Given the description of an element on the screen output the (x, y) to click on. 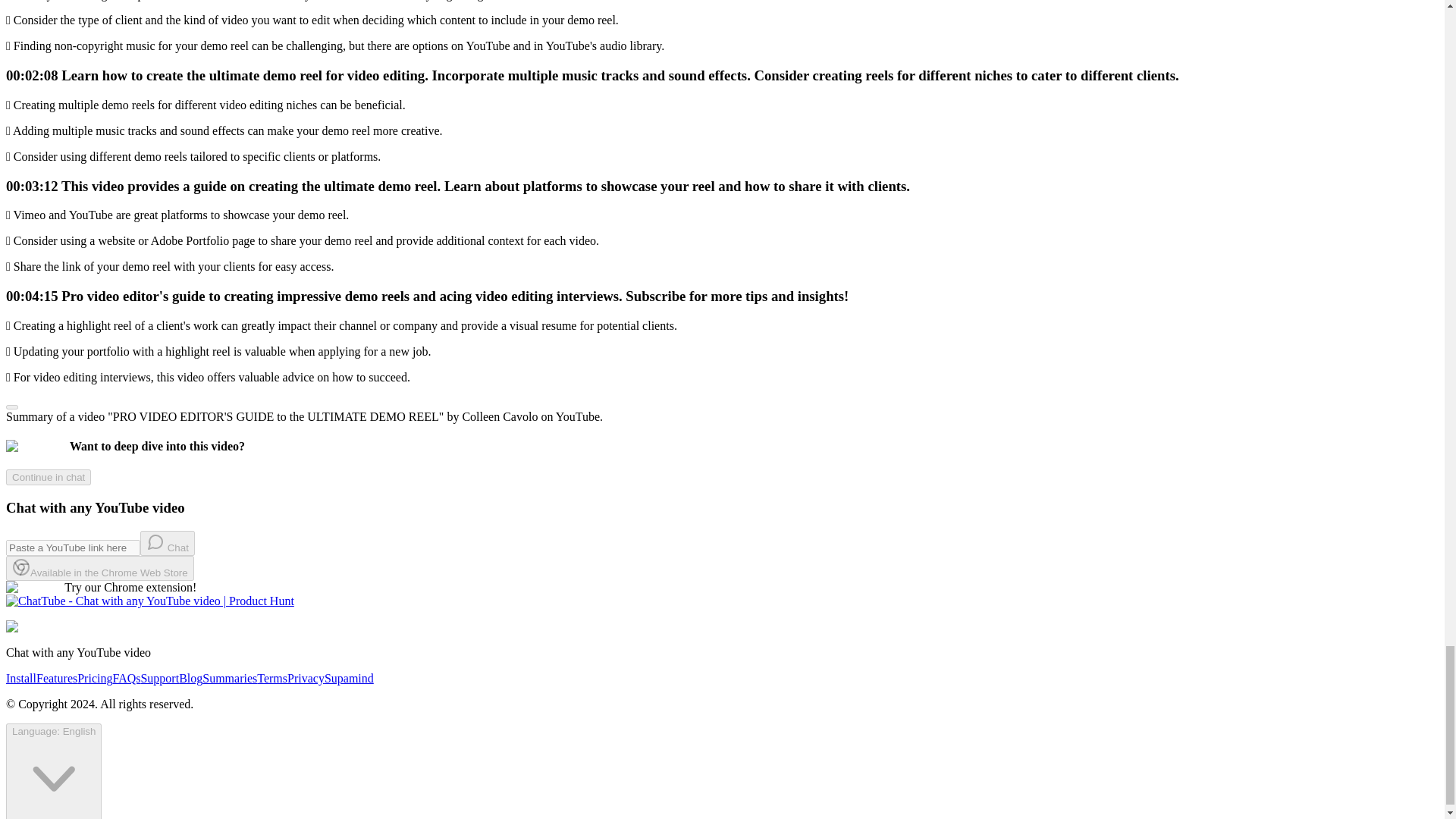
Available in the Chrome Web Store (99, 568)
Install (20, 677)
Blog (190, 677)
Privacy (305, 677)
Supamind (349, 677)
Summaries (229, 677)
Available in the Chrome Web Store (99, 571)
Pricing (94, 677)
Features (56, 677)
Chat (167, 543)
